Given the description of an element on the screen output the (x, y) to click on. 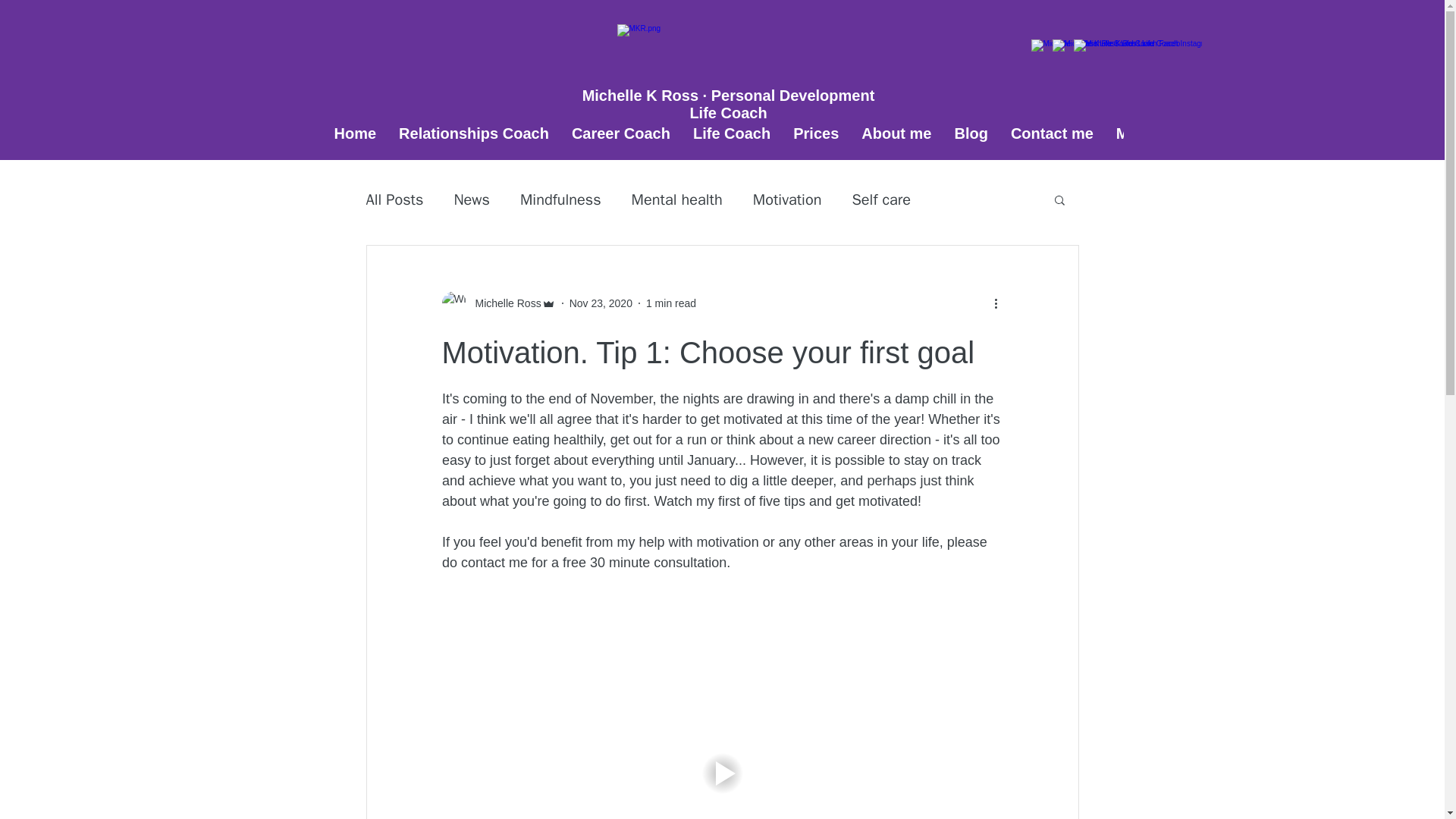
News (470, 199)
Nov 23, 2020 (600, 303)
Michelle Ross (502, 303)
Contact me (1051, 142)
Blog (970, 142)
1 min read (670, 303)
All Posts (394, 199)
Self care (880, 199)
Career Coach (620, 142)
Prices (815, 142)
